Given the description of an element on the screen output the (x, y) to click on. 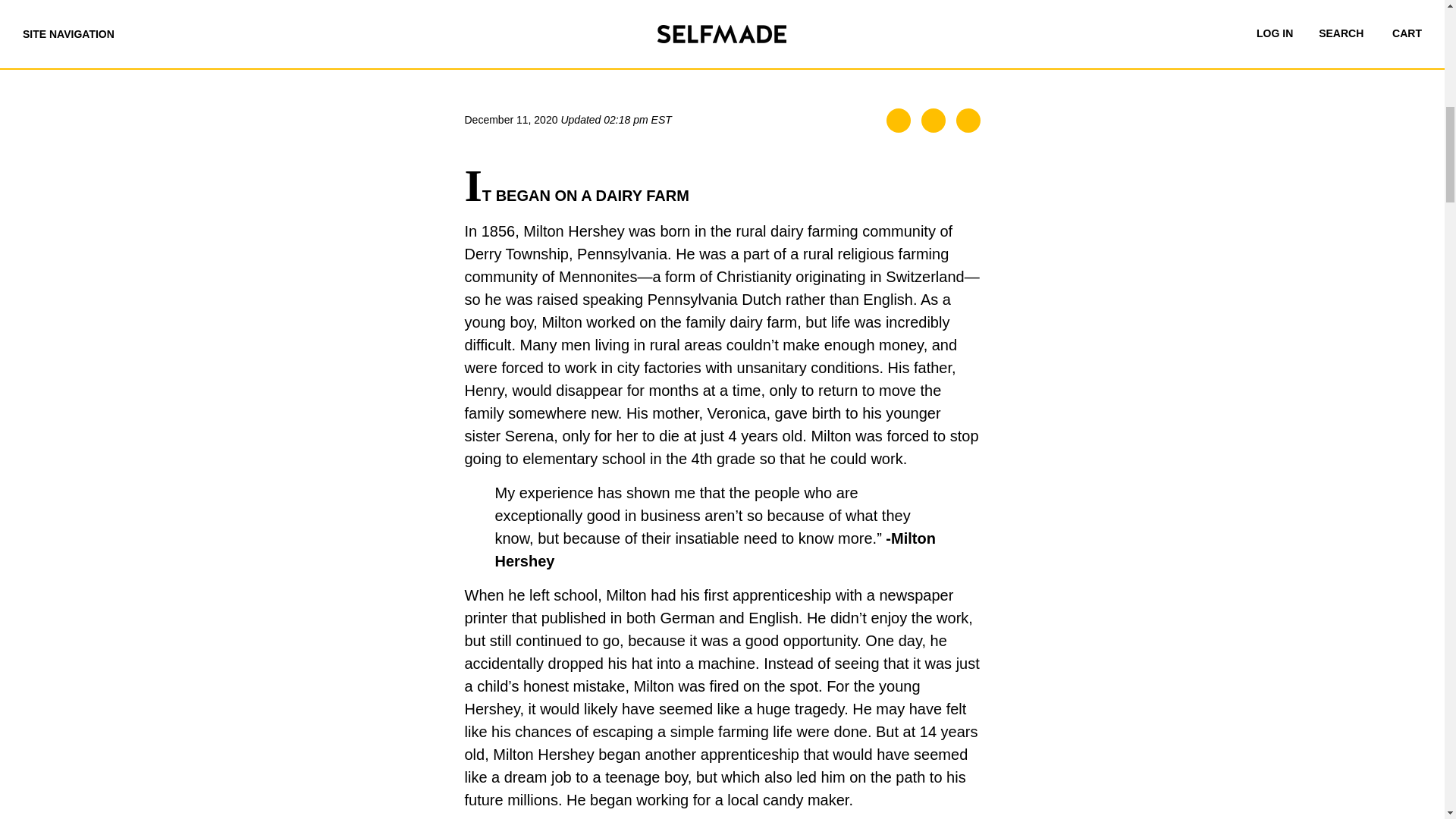
Share on Mail (967, 120)
Tweet on Twitter (932, 120)
Share on Facebook (898, 120)
Share on Mail (967, 120)
Share on Facebook (898, 120)
Tweet on Twitter (932, 120)
